Given the description of an element on the screen output the (x, y) to click on. 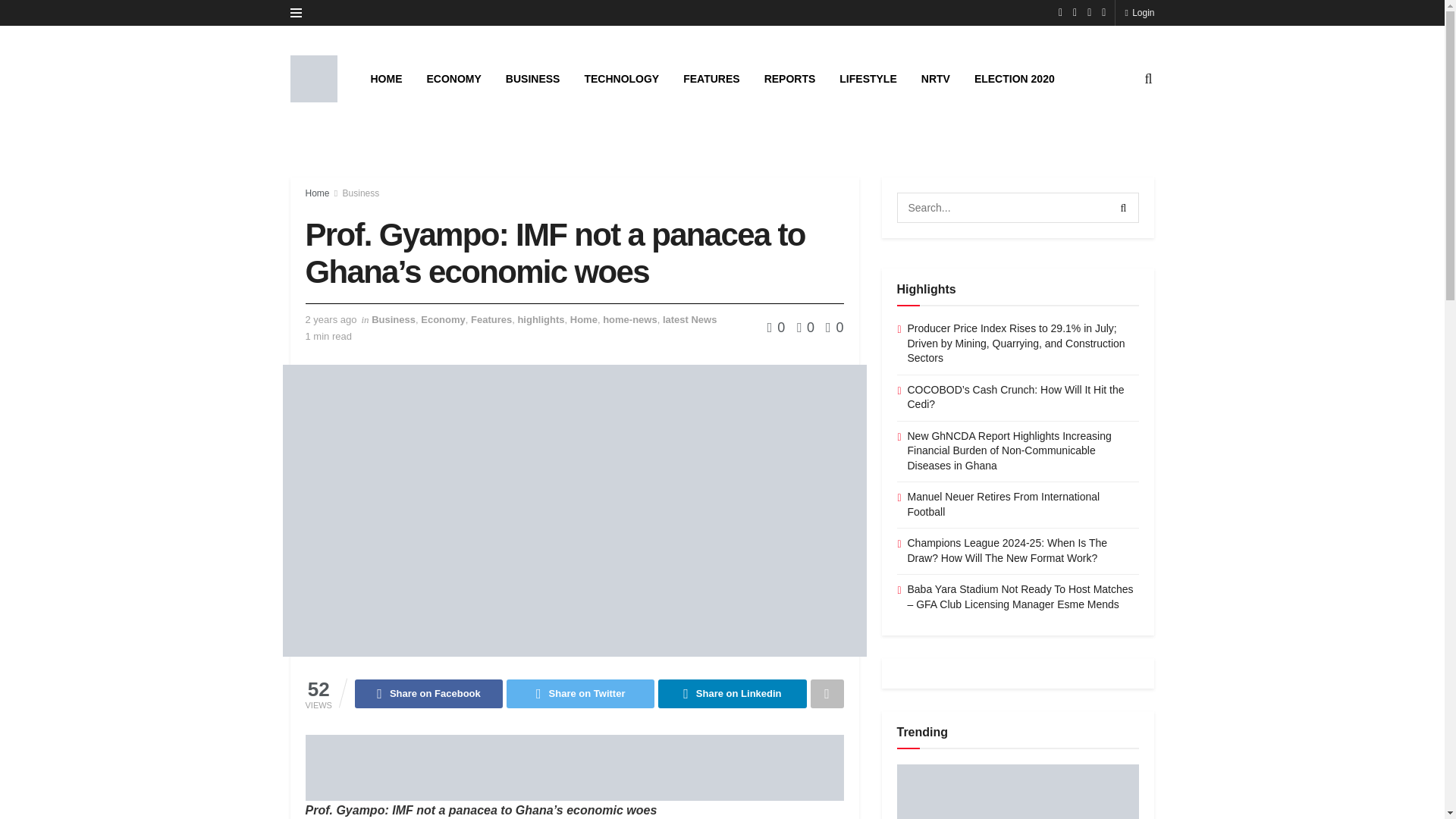
Login (1139, 12)
BUSINESS (532, 78)
FEATURES (711, 78)
REPORTS (790, 78)
TECHNOLOGY (621, 78)
HOME (385, 78)
ECONOMY (453, 78)
LIFESTYLE (867, 78)
